Given the description of an element on the screen output the (x, y) to click on. 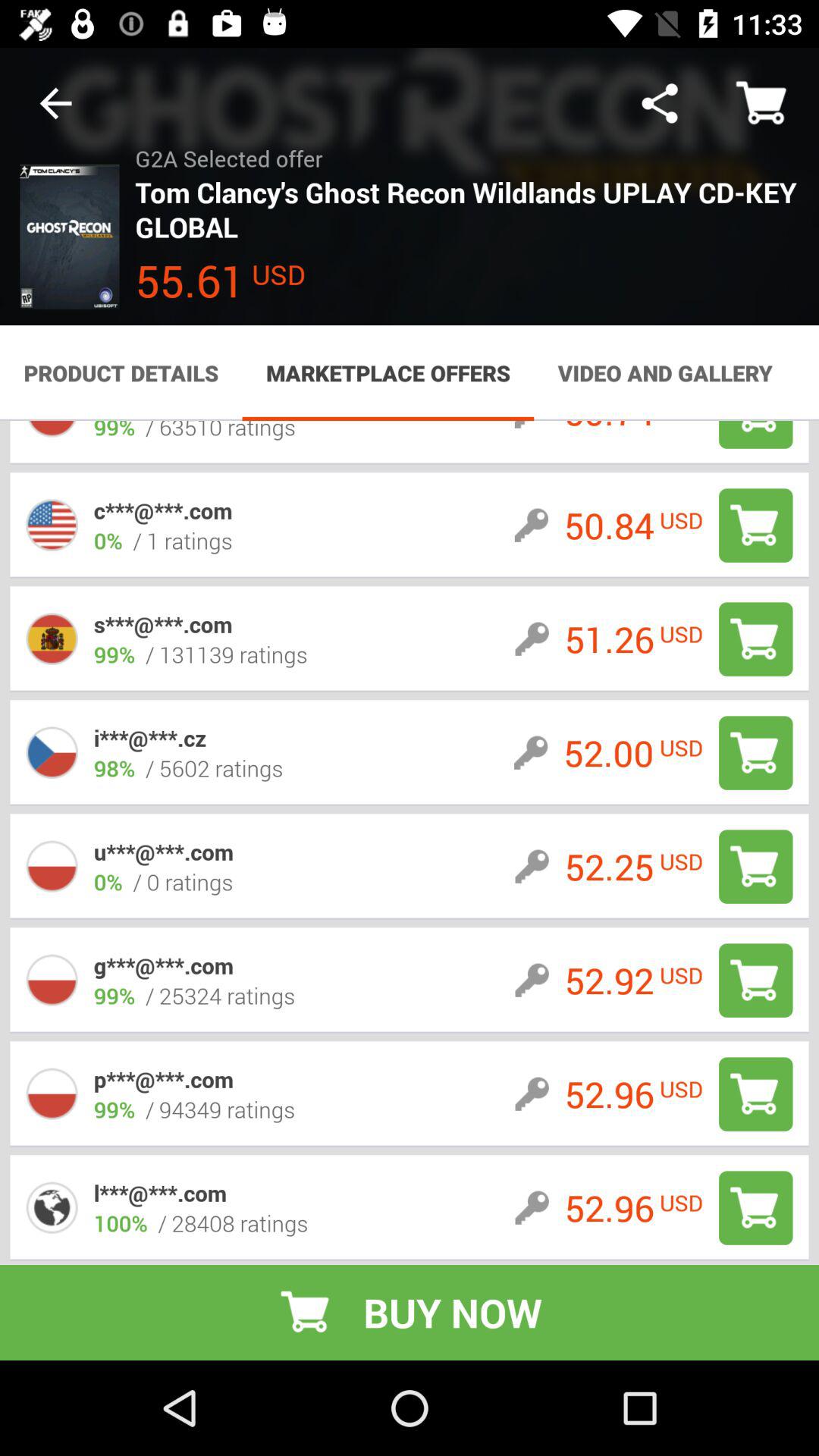
go do purches (755, 1094)
